Given the description of an element on the screen output the (x, y) to click on. 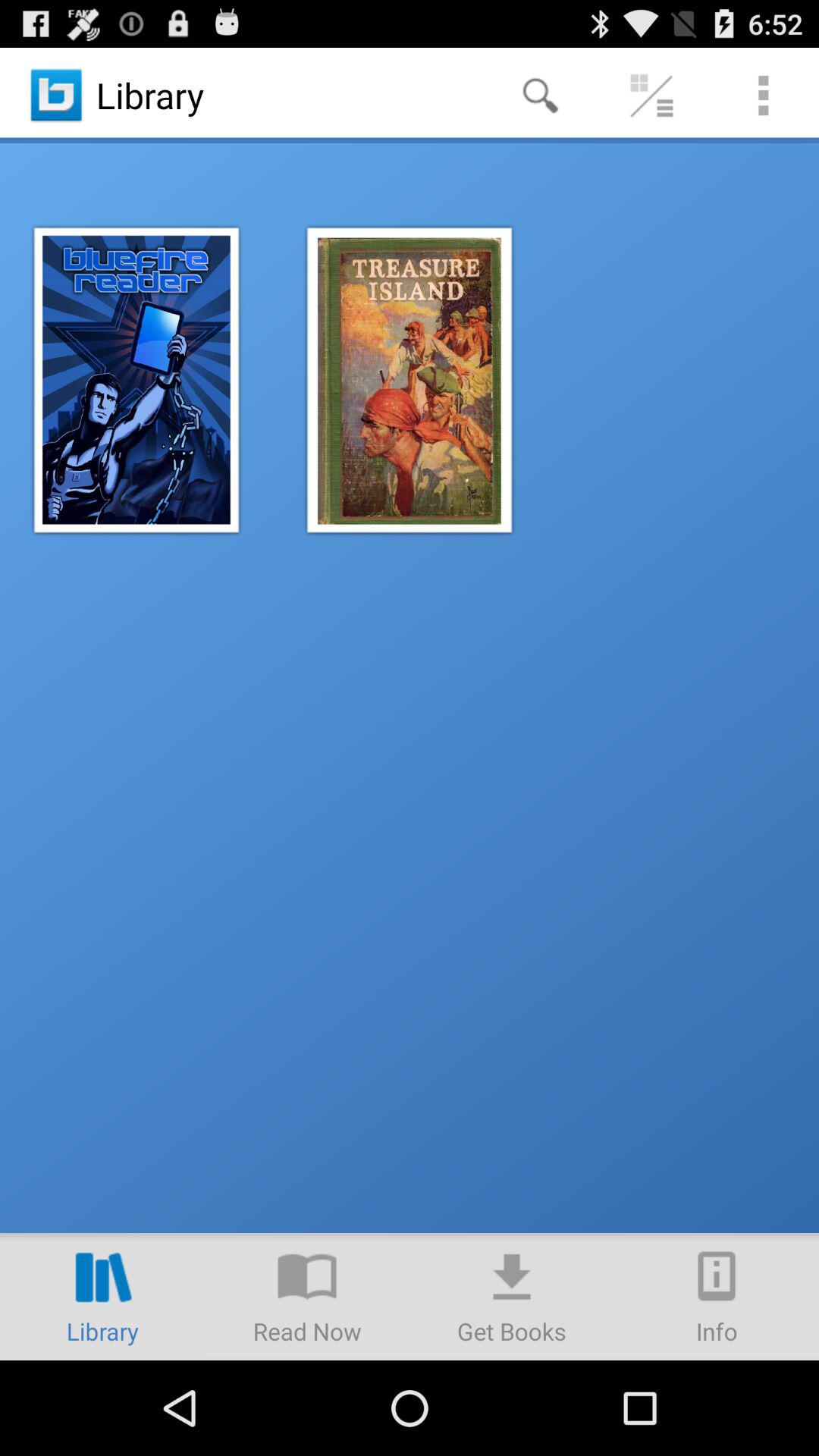
go to library (102, 1296)
